Given the description of an element on the screen output the (x, y) to click on. 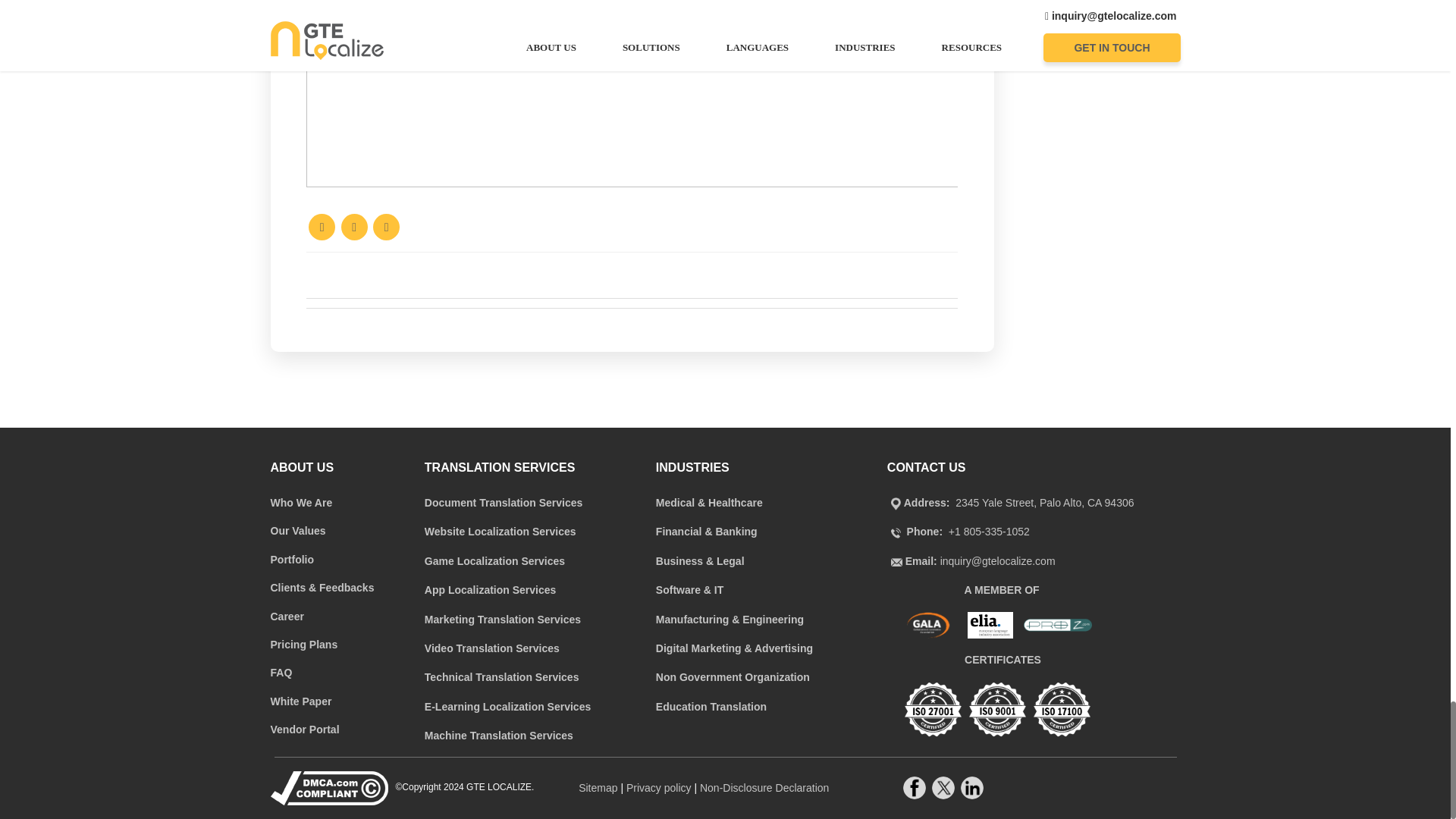
Share on Twitter (354, 226)
Share on Facebook (321, 226)
